Given the description of an element on the screen output the (x, y) to click on. 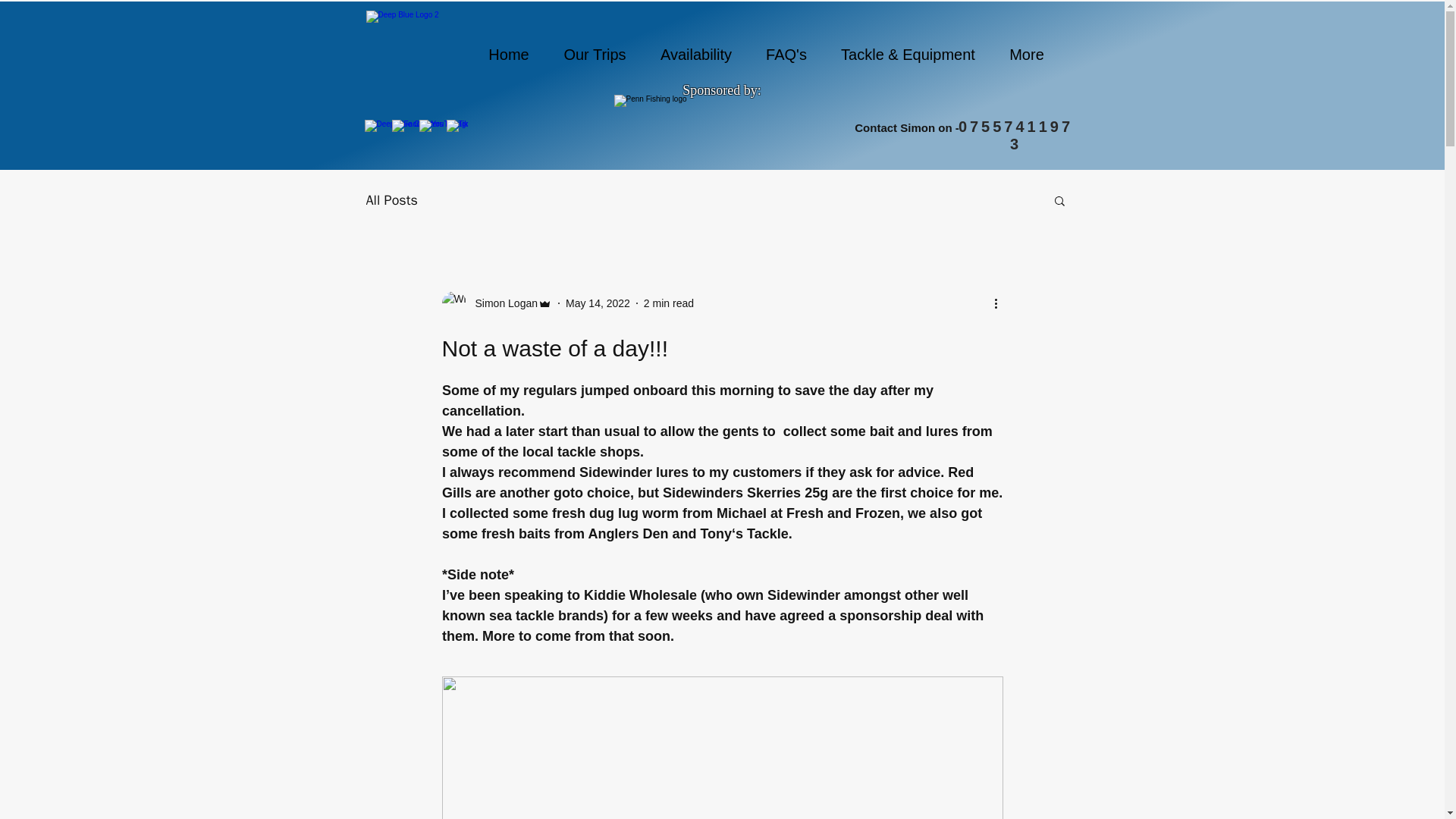
May 14, 2022 (598, 303)
Simon Logan (501, 303)
All Posts (390, 199)
FAQ's (786, 54)
Simon Logan (496, 303)
2 min read (668, 303)
Our Trips (594, 54)
Home (509, 54)
Availability (695, 54)
